Given the description of an element on the screen output the (x, y) to click on. 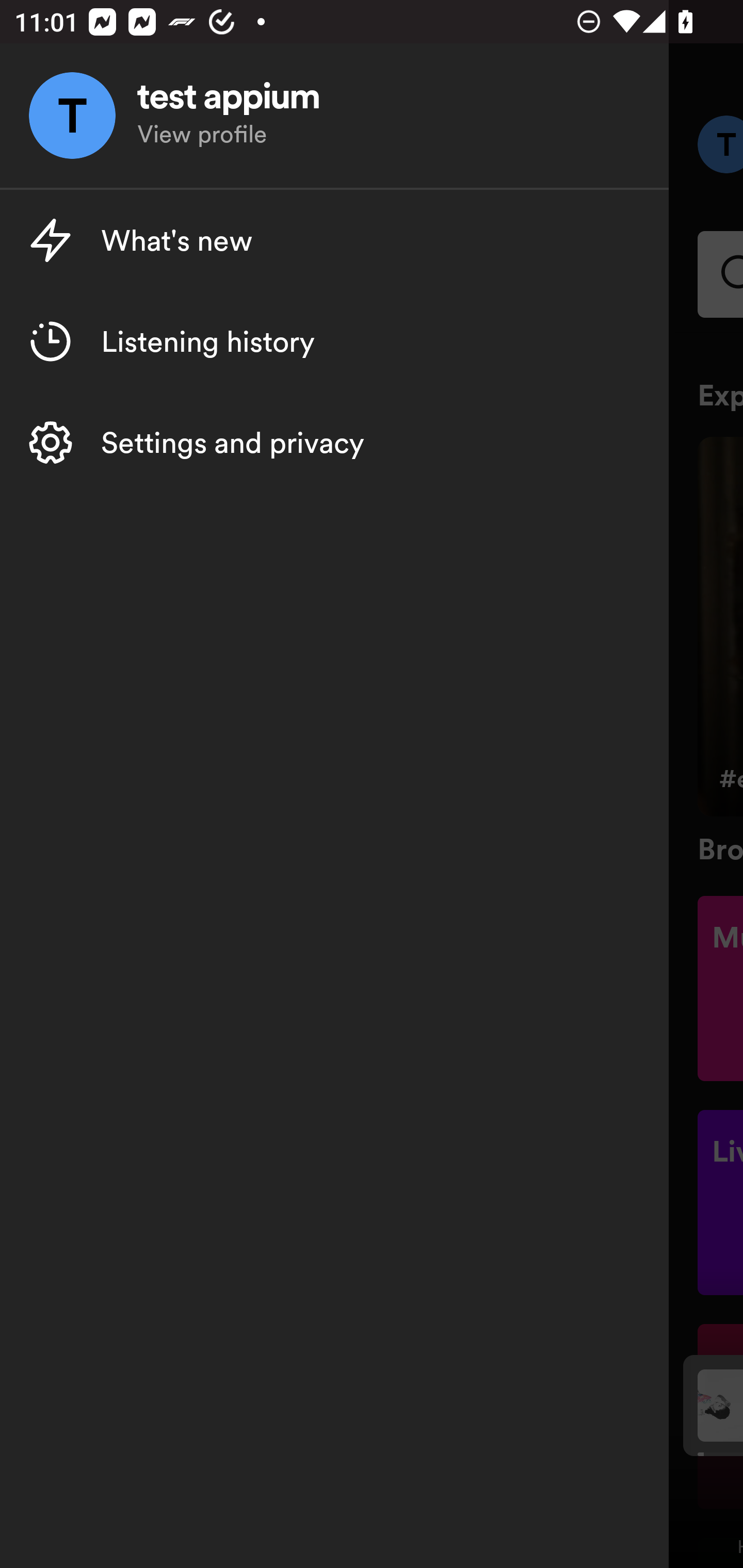
Profile test appium View profile (334, 115)
What's new (334, 240)
Listening history (334, 341)
Settings and privacy (334, 442)
